Given the description of an element on the screen output the (x, y) to click on. 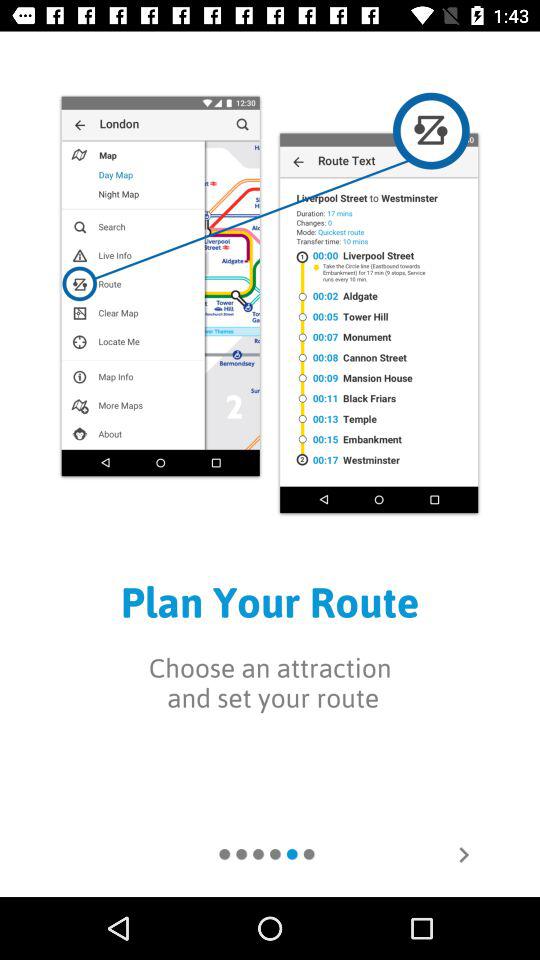
move page (463, 855)
